Given the description of an element on the screen output the (x, y) to click on. 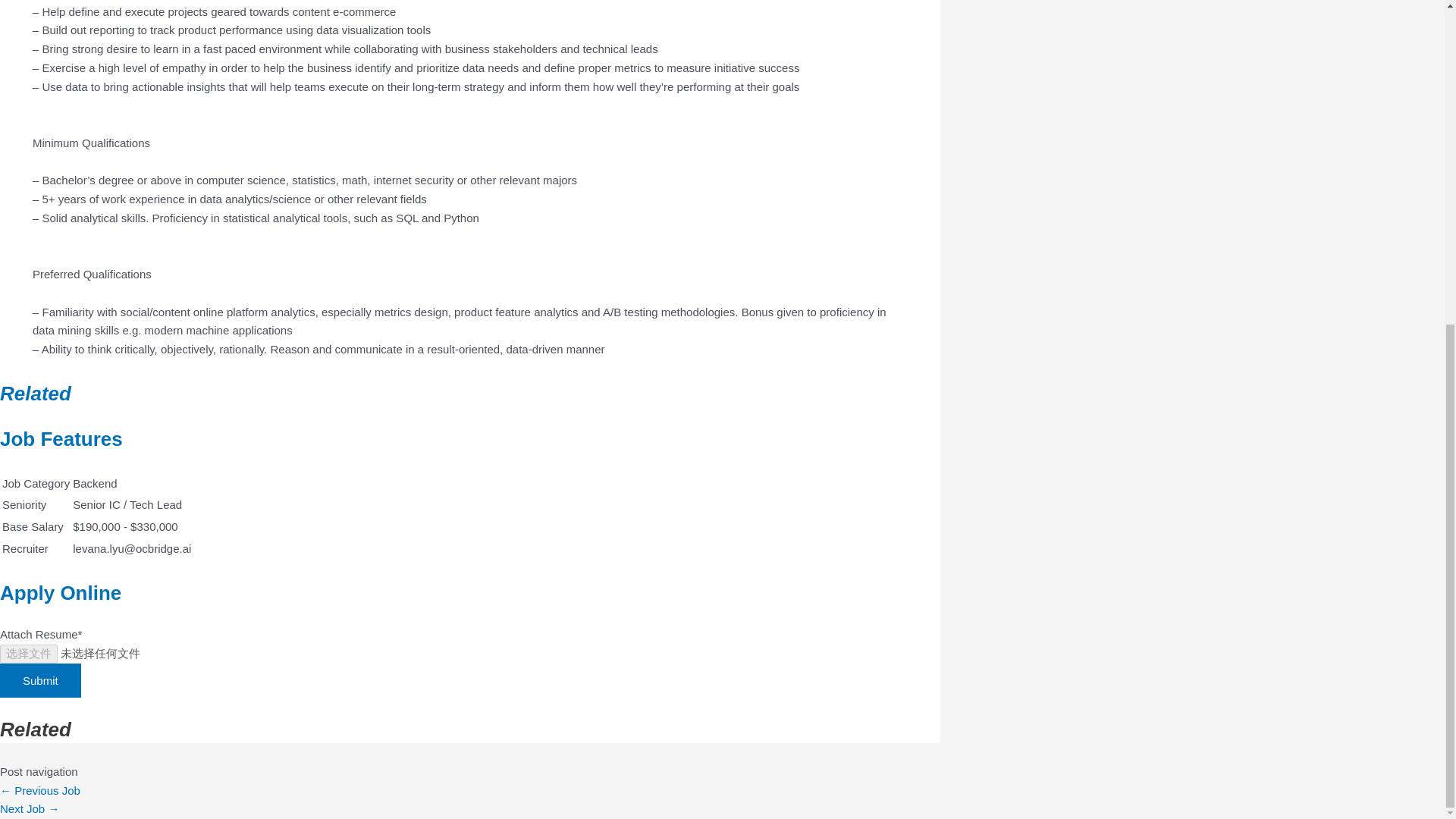
Submit (40, 680)
Country Lead Spain - 2886 (40, 789)
Senior Machine Learning Engineer, App Ads and Gaming - 2888 (29, 808)
